Given the description of an element on the screen output the (x, y) to click on. 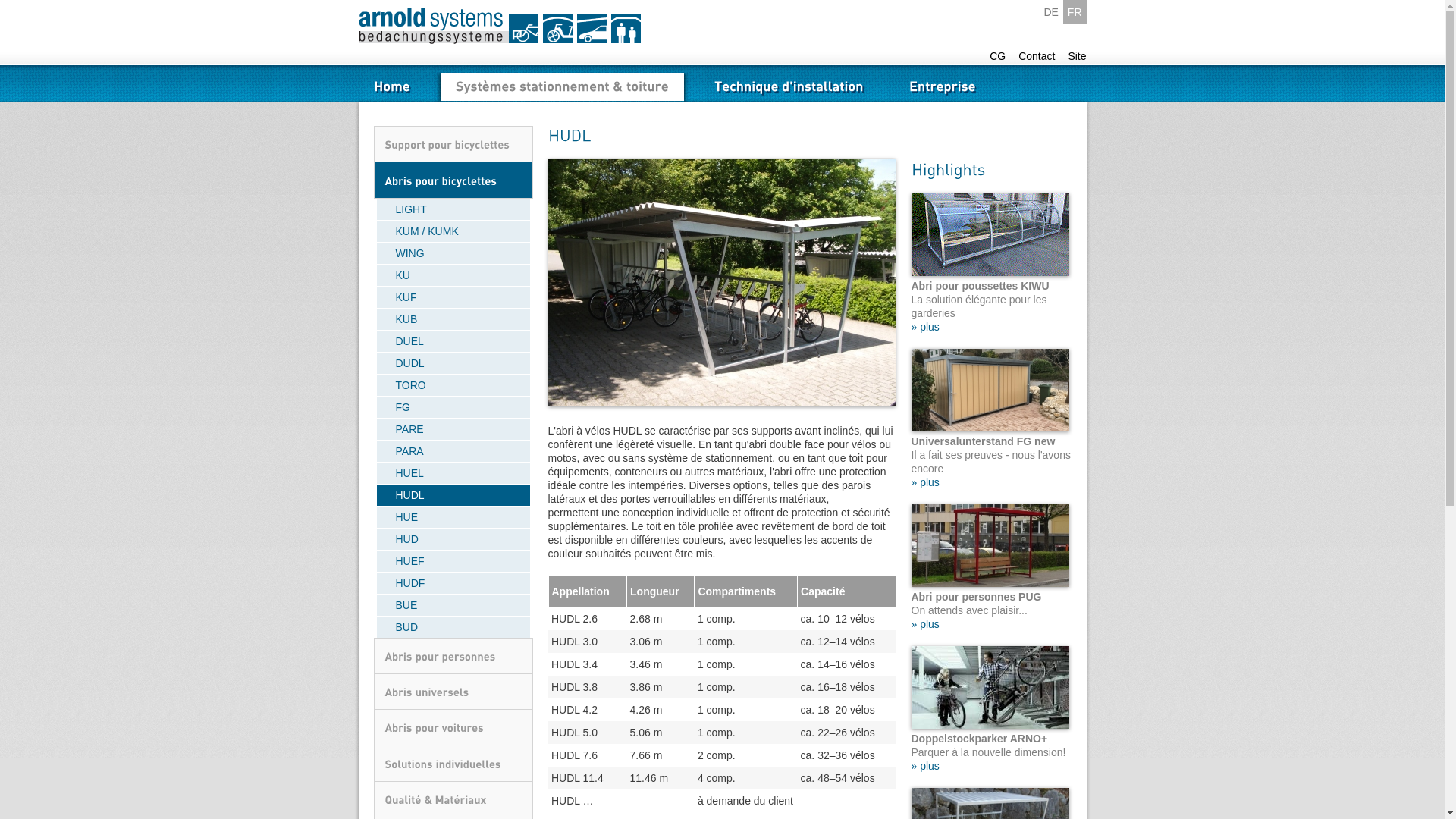
Solutions individuelles Element type: hover (452, 763)
KUM / KUMK Element type: text (452, 231)
Abris universels Element type: hover (452, 691)
Site Element type: text (1076, 56)
Doppelstockparker ARNO+ Element type: hover (990, 687)
Contact Element type: text (1036, 56)
HUDL Element type: text (452, 495)
CG Element type: text (997, 56)
Abris pour voitures Element type: hover (452, 727)
LIGHT Element type: text (452, 209)
PARE Element type: text (452, 429)
KUB Element type: text (452, 319)
HUEL Element type: text (452, 473)
Abris pour personnes Element type: hover (452, 656)
DE Element type: text (1050, 12)
HUEF Element type: text (452, 561)
HUDF Element type: text (452, 583)
arnold systems ag Element type: hover (498, 25)
DUDL Element type: text (452, 363)
BUE Element type: text (452, 605)
KU Element type: text (452, 275)
DUEL Element type: text (452, 341)
Abri pour personnes PUG Element type: hover (990, 545)
Abri pour poussettes KIWU Element type: hover (990, 234)
BUD Element type: text (452, 626)
HUE Element type: text (452, 517)
Support pour bicyclettes Element type: hover (452, 143)
PARA Element type: text (452, 451)
WING Element type: text (452, 253)
TORO Element type: text (452, 385)
Abris pour bicyclettes Element type: hover (452, 179)
FG Element type: text (452, 407)
Universalunterstand FG new Element type: hover (990, 389)
KUF Element type: text (452, 297)
HUD Element type: text (452, 539)
